Given the description of an element on the screen output the (x, y) to click on. 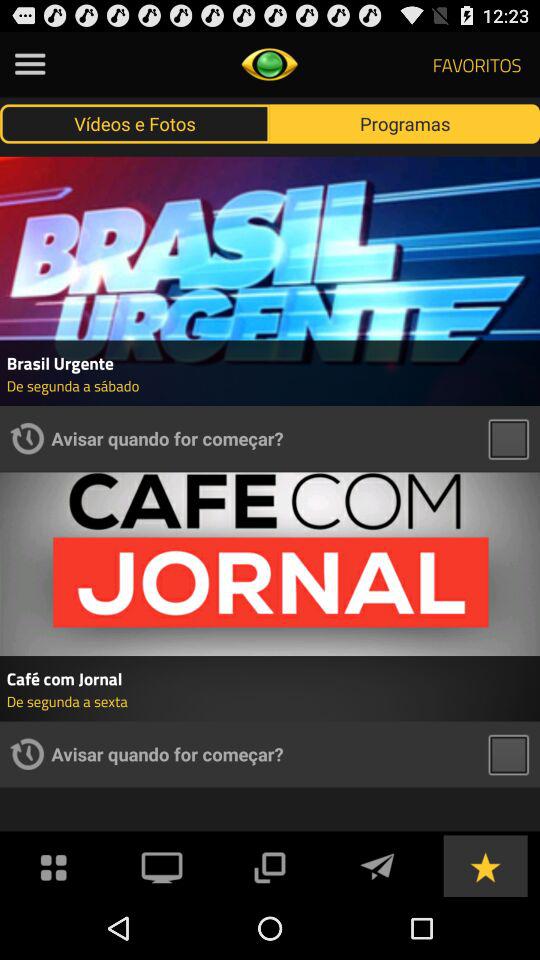
open new window (269, 865)
